Given the description of an element on the screen output the (x, y) to click on. 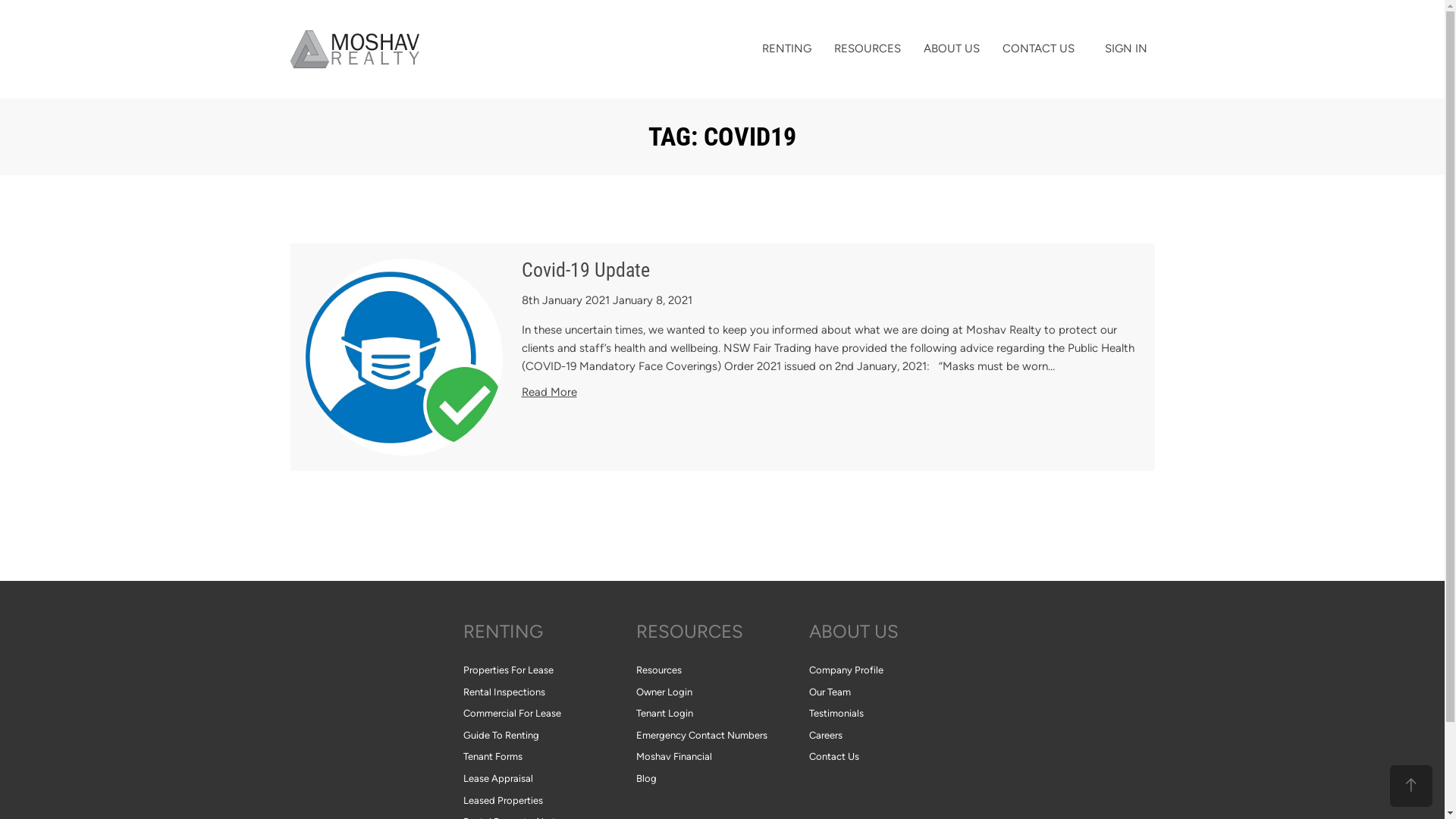
Emergency Contact Numbers Element type: text (721, 735)
Covid-19 Update Element type: text (585, 269)
RESOURCES Element type: text (866, 48)
Resources Element type: text (721, 670)
Lease Appraisal Element type: text (548, 778)
ABOUT US Element type: text (894, 631)
Company Profile Element type: text (894, 670)
Careers Element type: text (894, 735)
Contact Us Element type: text (894, 756)
Properties For Lease Element type: text (548, 670)
Tenant Login Element type: text (721, 713)
Testimonials Element type: text (894, 713)
Blog Element type: text (721, 778)
Our Team Element type: text (894, 692)
Guide To Renting Element type: text (548, 735)
RENTING Element type: text (786, 48)
Leased Properties Element type: text (548, 800)
Tenant Forms Element type: text (548, 756)
CONTACT US Element type: text (1037, 48)
Commercial For Lease Element type: text (548, 713)
RENTING Element type: text (548, 631)
Read More Element type: text (549, 391)
ABOUT US Element type: text (950, 48)
8th January 2021 January 8, 2021 Element type: text (606, 300)
SIGN IN Element type: text (1125, 48)
RESOURCES Element type: text (721, 631)
Rental Inspections Element type: text (548, 692)
Moshav Financial Element type: text (721, 756)
Owner Login Element type: text (721, 692)
